Given the description of an element on the screen output the (x, y) to click on. 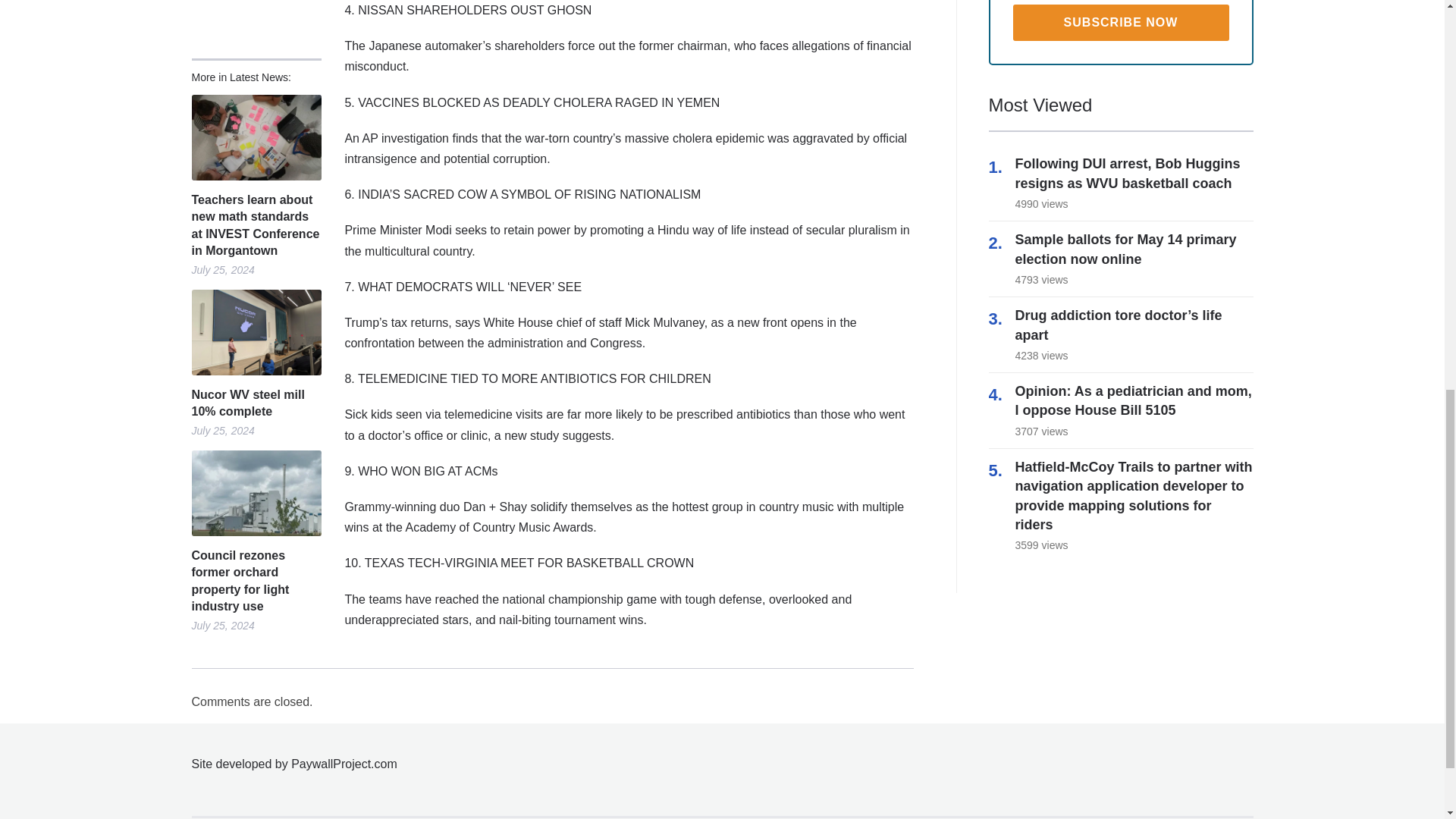
Subscribe Now (1120, 22)
